Given the description of an element on the screen output the (x, y) to click on. 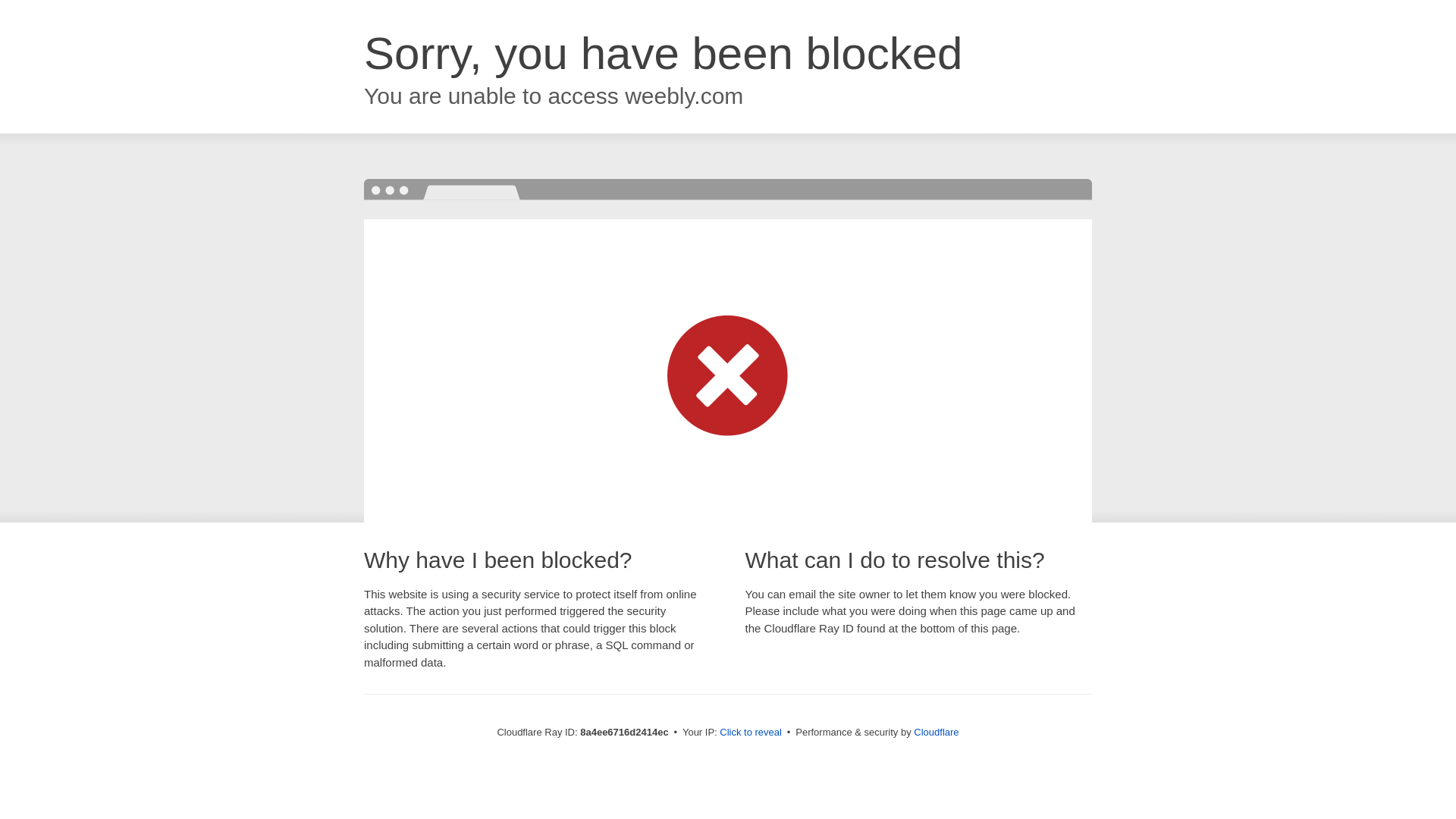
Cloudflare (936, 731)
Click to reveal (750, 732)
